Given the description of an element on the screen output the (x, y) to click on. 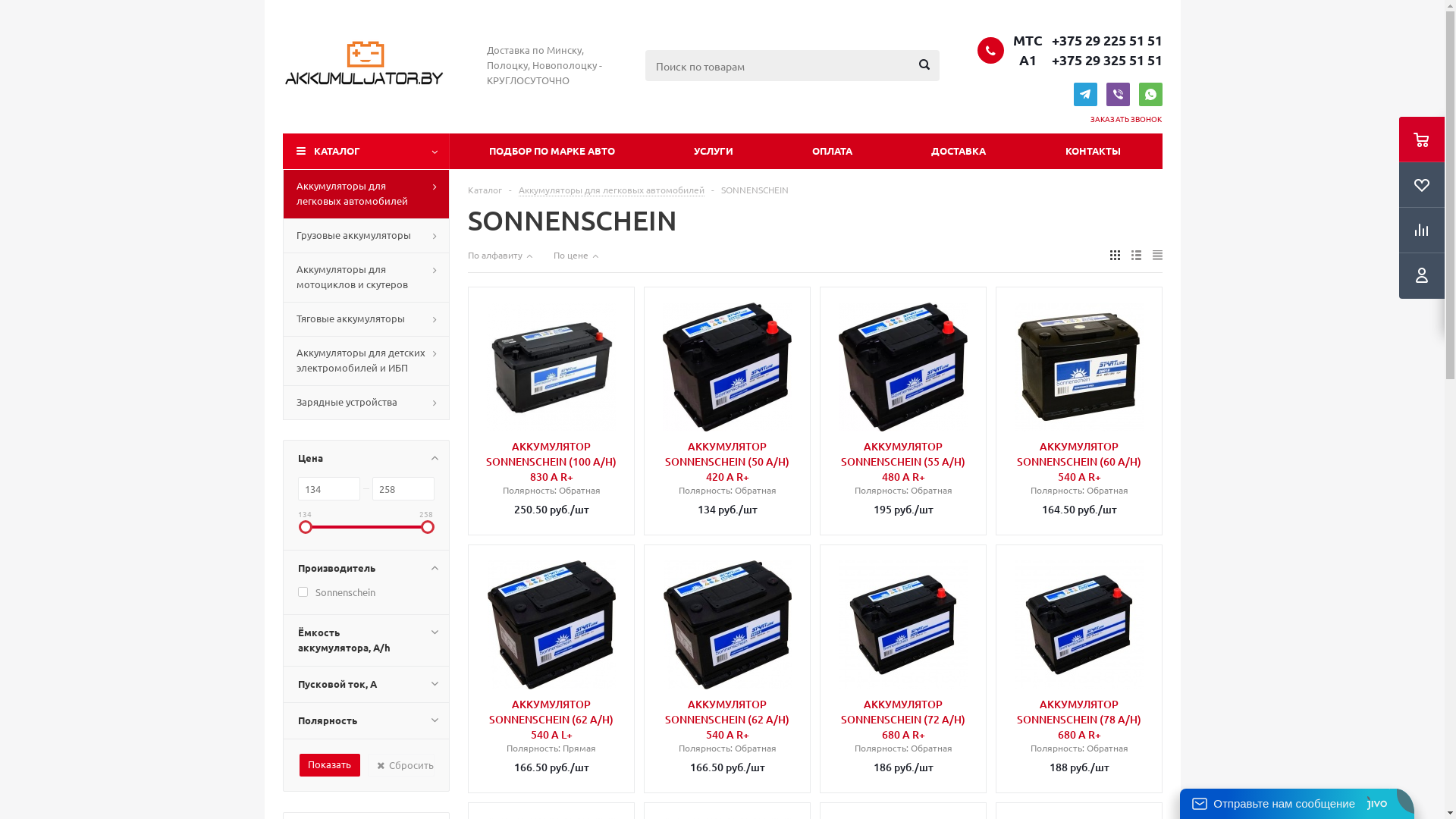
  A1     +375 29 325 51 51 Element type: text (1086, 59)
Y Element type: text (4, 4)
VIBER Element type: hover (1117, 94)
WHATSAPP Element type: hover (1150, 94)
TELEGRAM Element type: hover (1085, 94)
 MTC   +375 29 225 51 51 Element type: text (1086, 40)
